Given the description of an element on the screen output the (x, y) to click on. 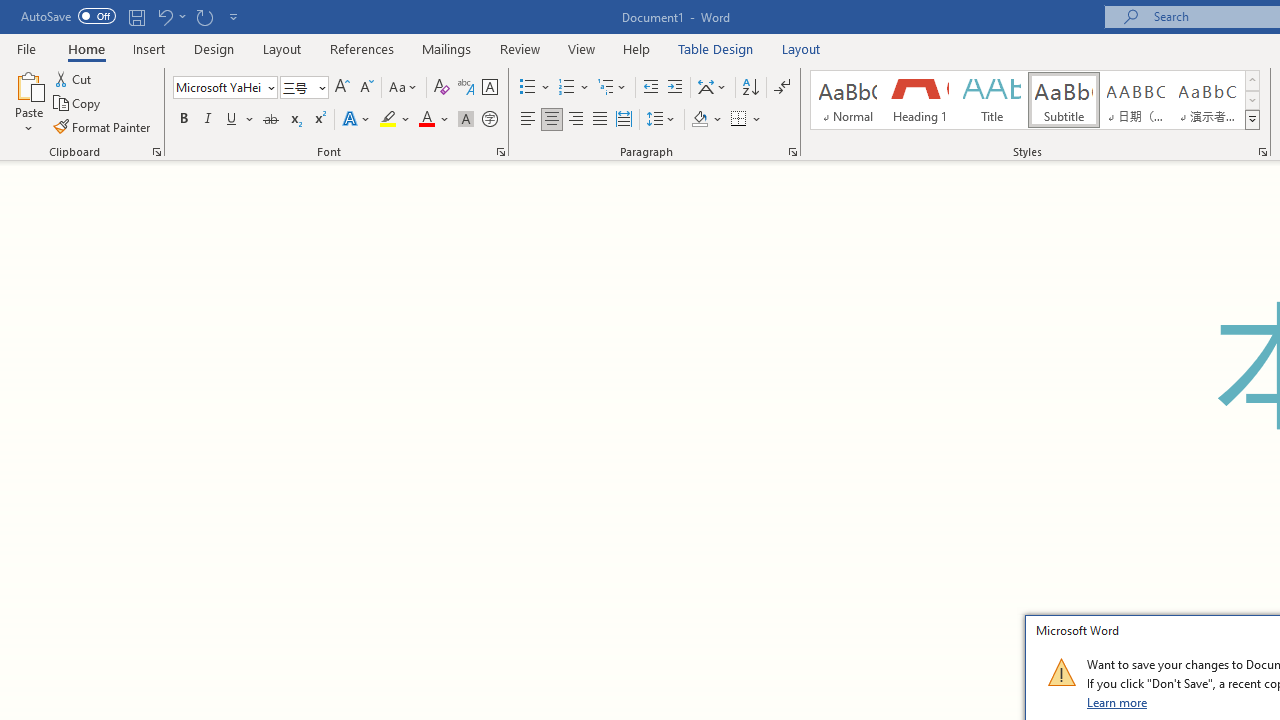
Undo Superscript (170, 15)
